Given the description of an element on the screen output the (x, y) to click on. 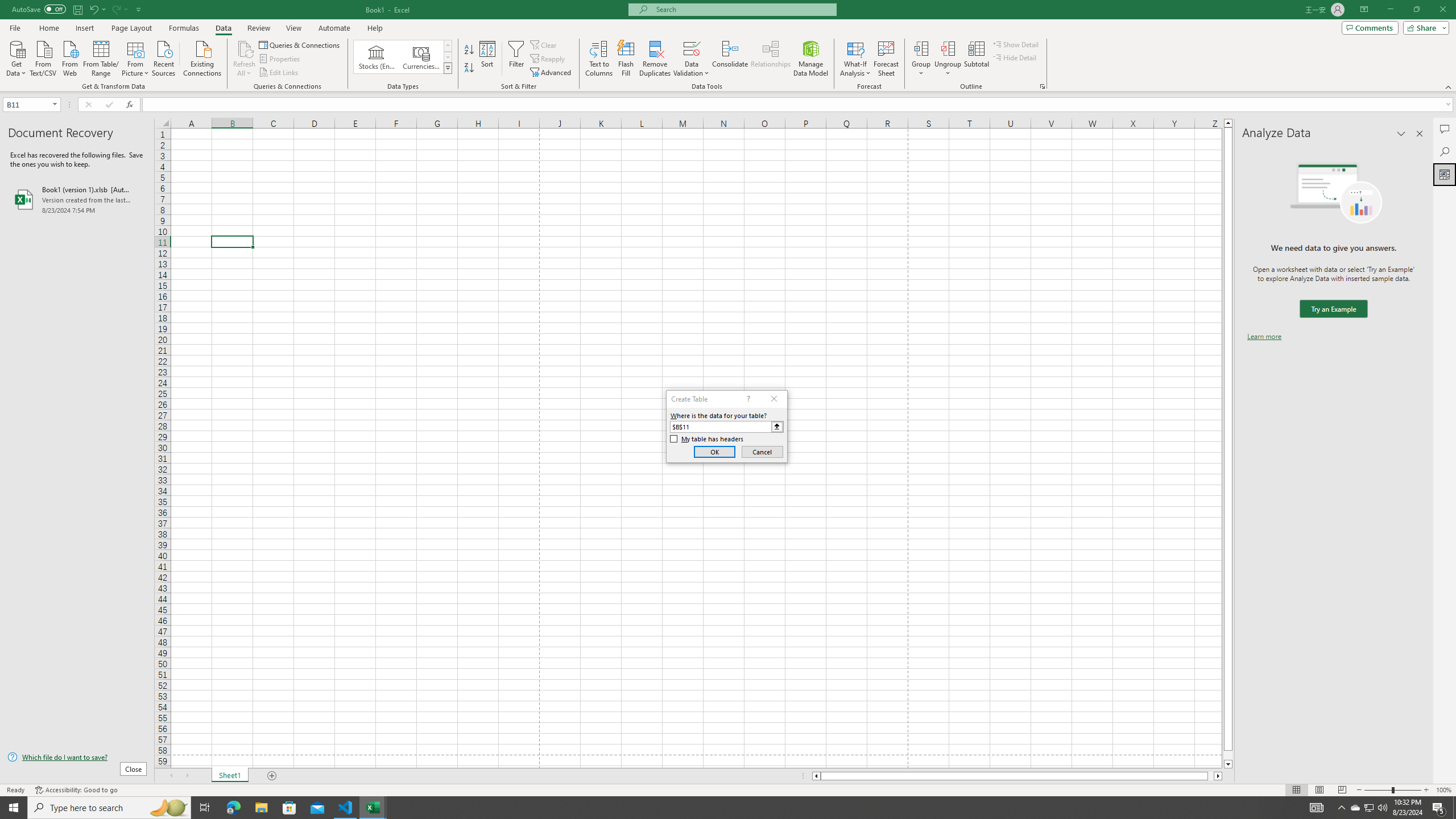
Learn more (1264, 336)
Recent Sources (163, 57)
